Given the description of an element on the screen output the (x, y) to click on. 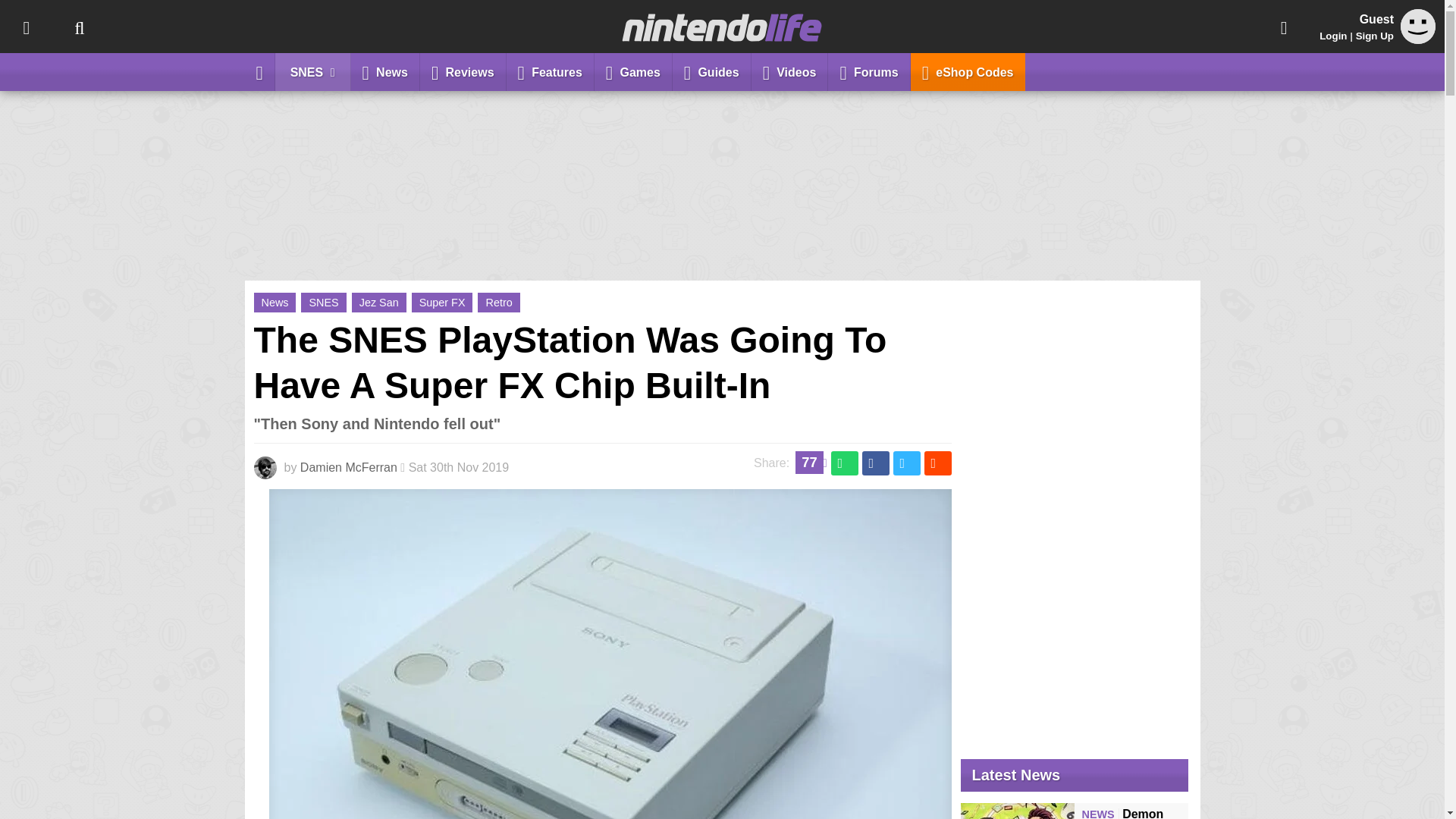
Sign Up (1374, 35)
Features (550, 71)
SNES (312, 71)
Nintendo Life (721, 27)
Share This Page (1283, 26)
News (385, 71)
Guest (1417, 39)
Games (633, 71)
Login (1332, 35)
Guides (711, 71)
Guest (1417, 26)
Reviews (463, 71)
Search (79, 26)
Forums (869, 71)
eShop Codes (968, 71)
